Given the description of an element on the screen output the (x, y) to click on. 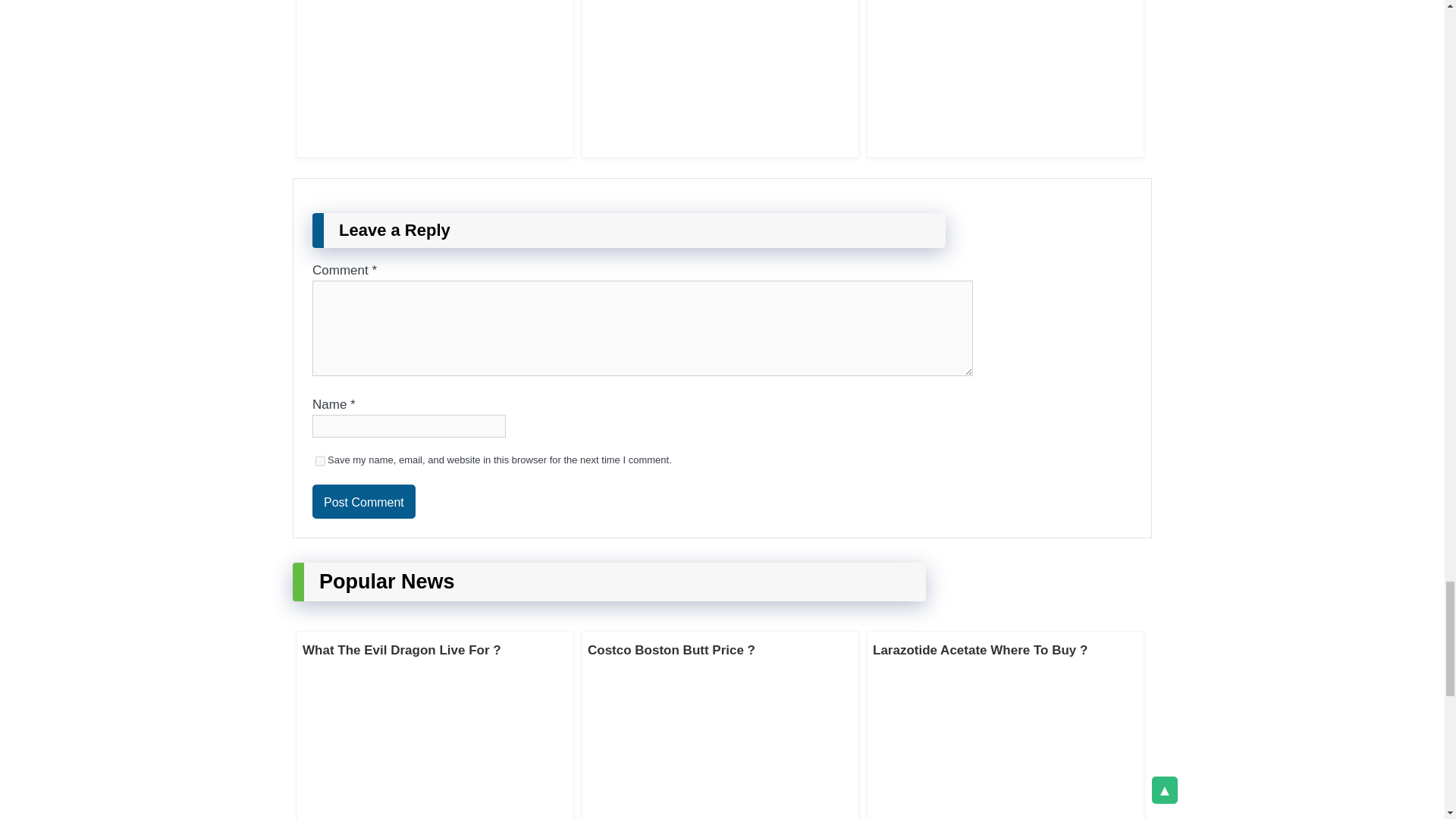
What The Evil Dragon Live For ? (401, 649)
Post Comment (363, 501)
Costco Boston Butt Price ? (671, 649)
Post Comment (363, 501)
